Given the description of an element on the screen output the (x, y) to click on. 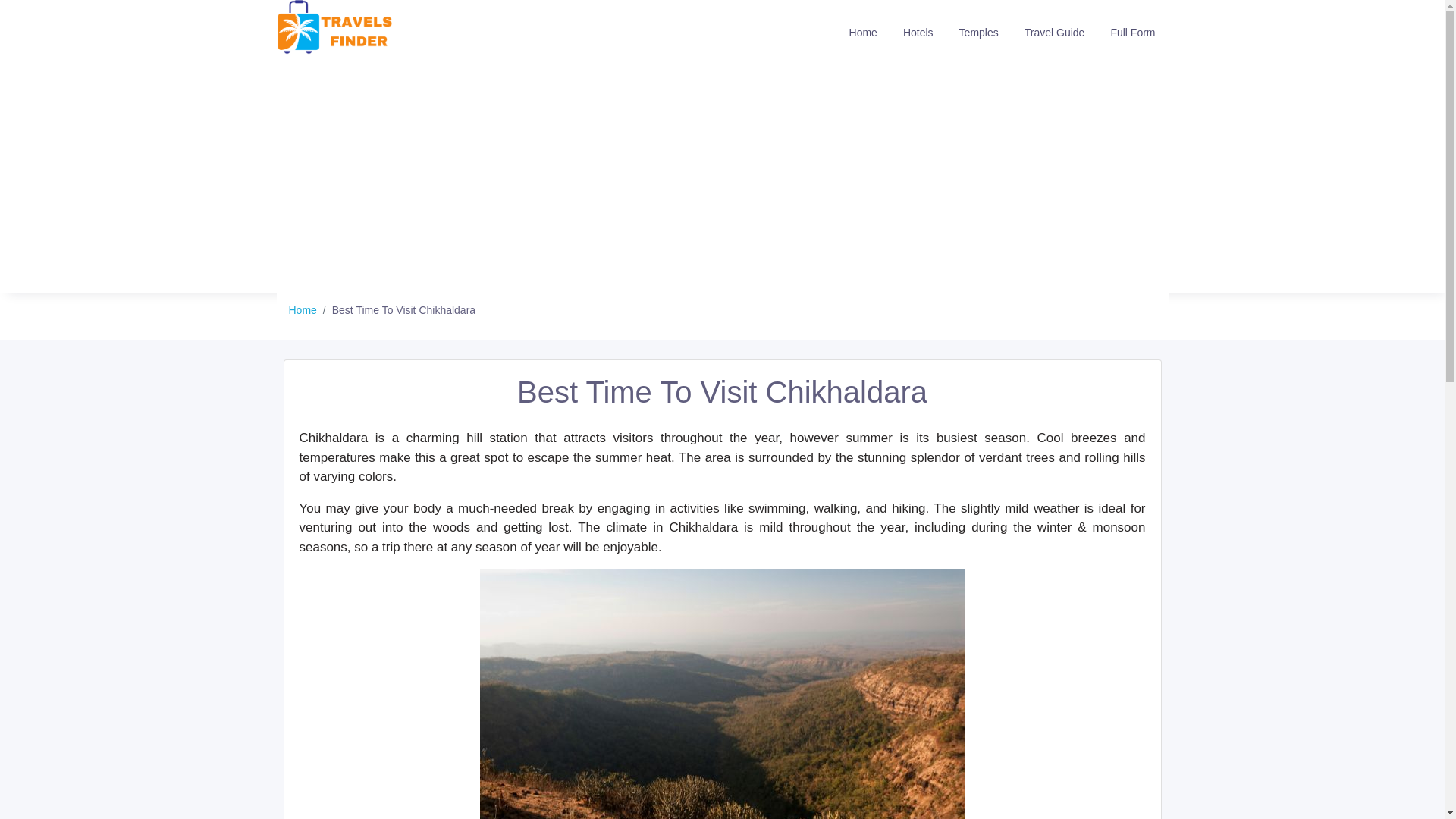
Temples (978, 32)
Home (301, 309)
Home (863, 32)
Travel Guide (1054, 32)
Full Form (1132, 32)
Hotels (917, 32)
